Given the description of an element on the screen output the (x, y) to click on. 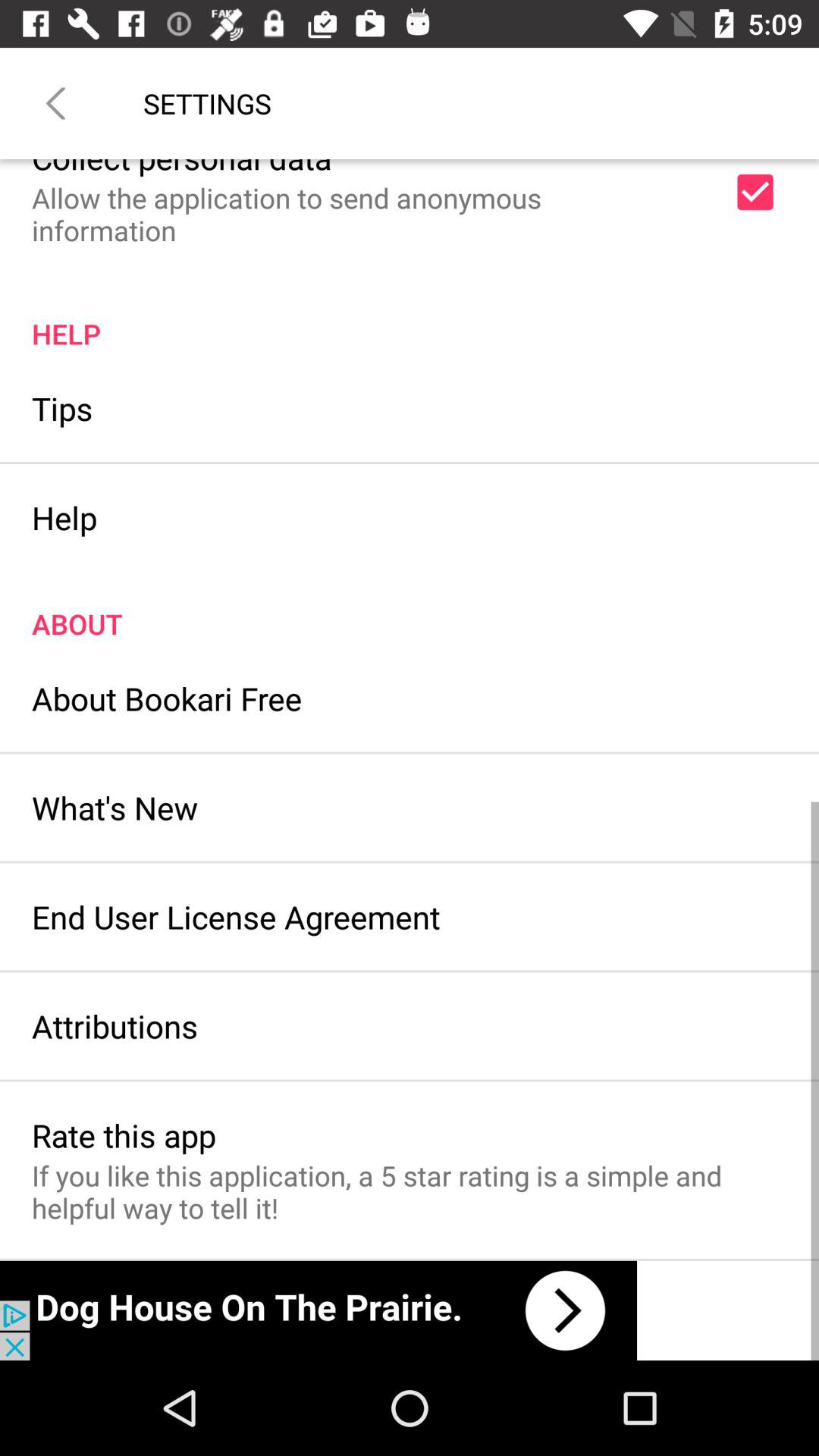
go to advertisement website (318, 1310)
